Given the description of an element on the screen output the (x, y) to click on. 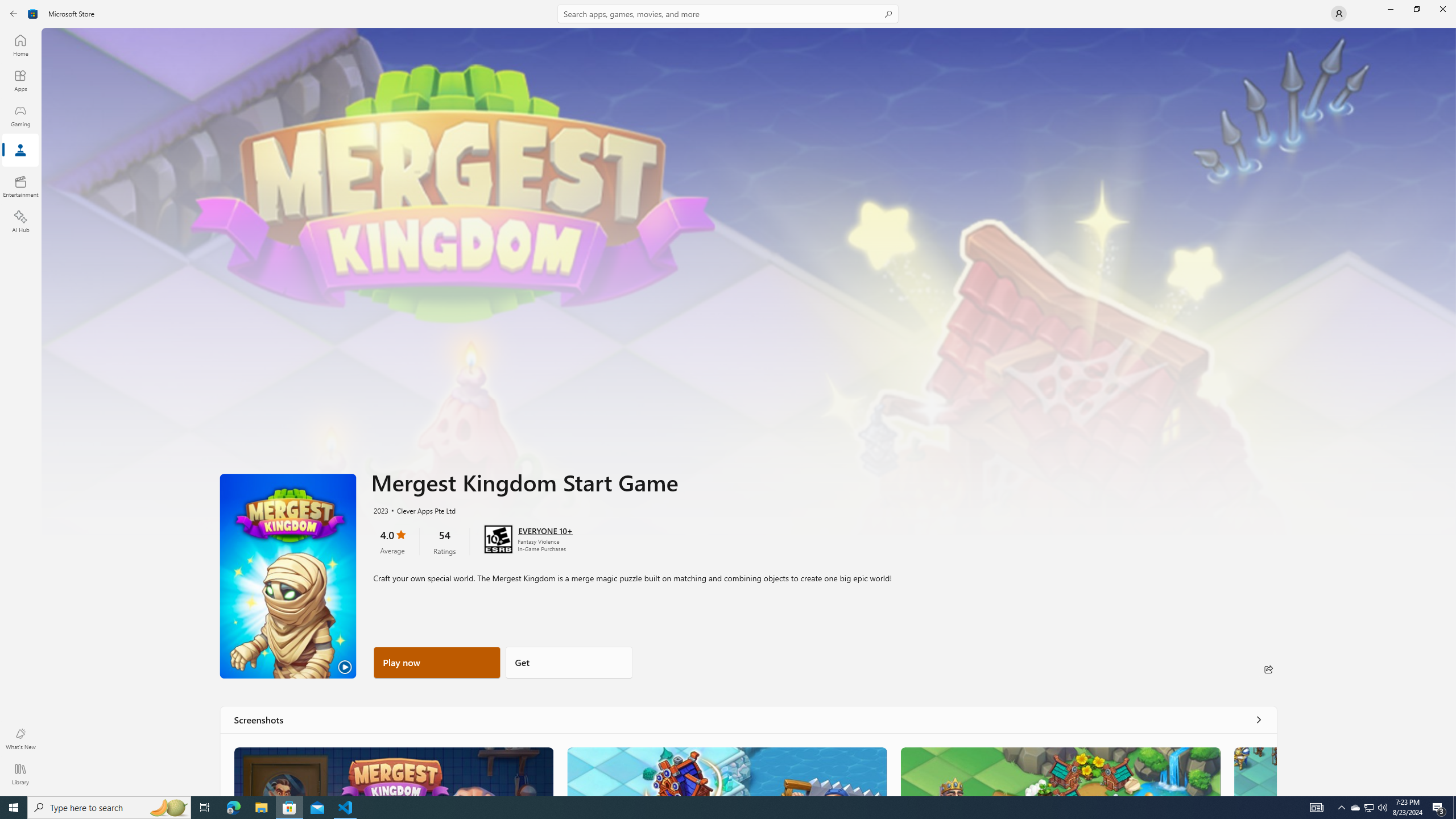
Apps (20, 80)
Merge the way you want! (393, 771)
Home (20, 45)
Entertainment (20, 185)
Arcade (20, 150)
Screenshot 3 (1059, 771)
Search (727, 13)
Play now (436, 662)
Minimize Microsoft Store (1390, 9)
4.0 stars. Click to skip to ratings and reviews (392, 541)
AutomationID: NavigationControl (728, 398)
See all (1258, 719)
Clever Apps Pte Ltd (420, 510)
Close Microsoft Store (1442, 9)
AI Hub (20, 221)
